Given the description of an element on the screen output the (x, y) to click on. 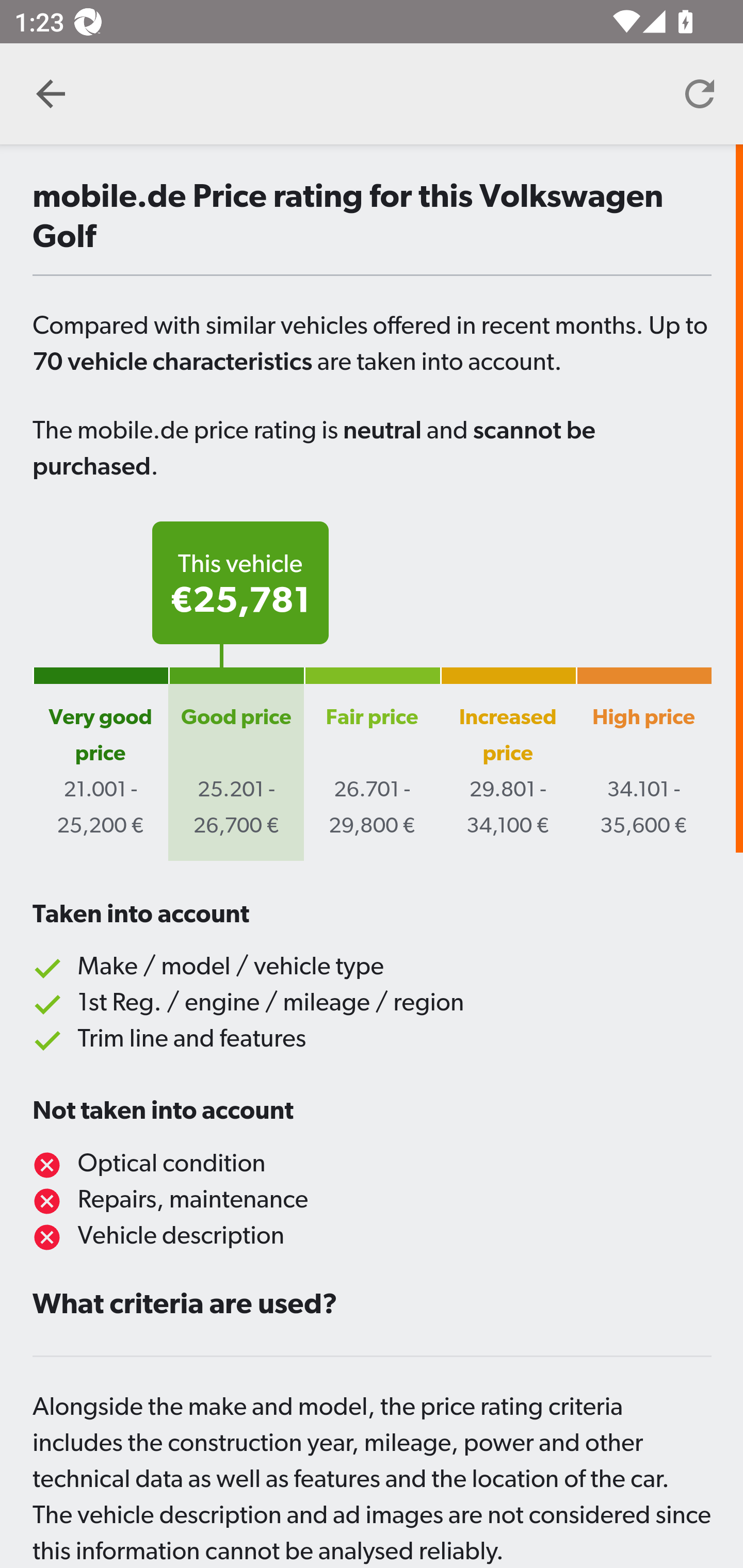
Navigate up (50, 93)
synchronize (699, 93)
